Given the description of an element on the screen output the (x, y) to click on. 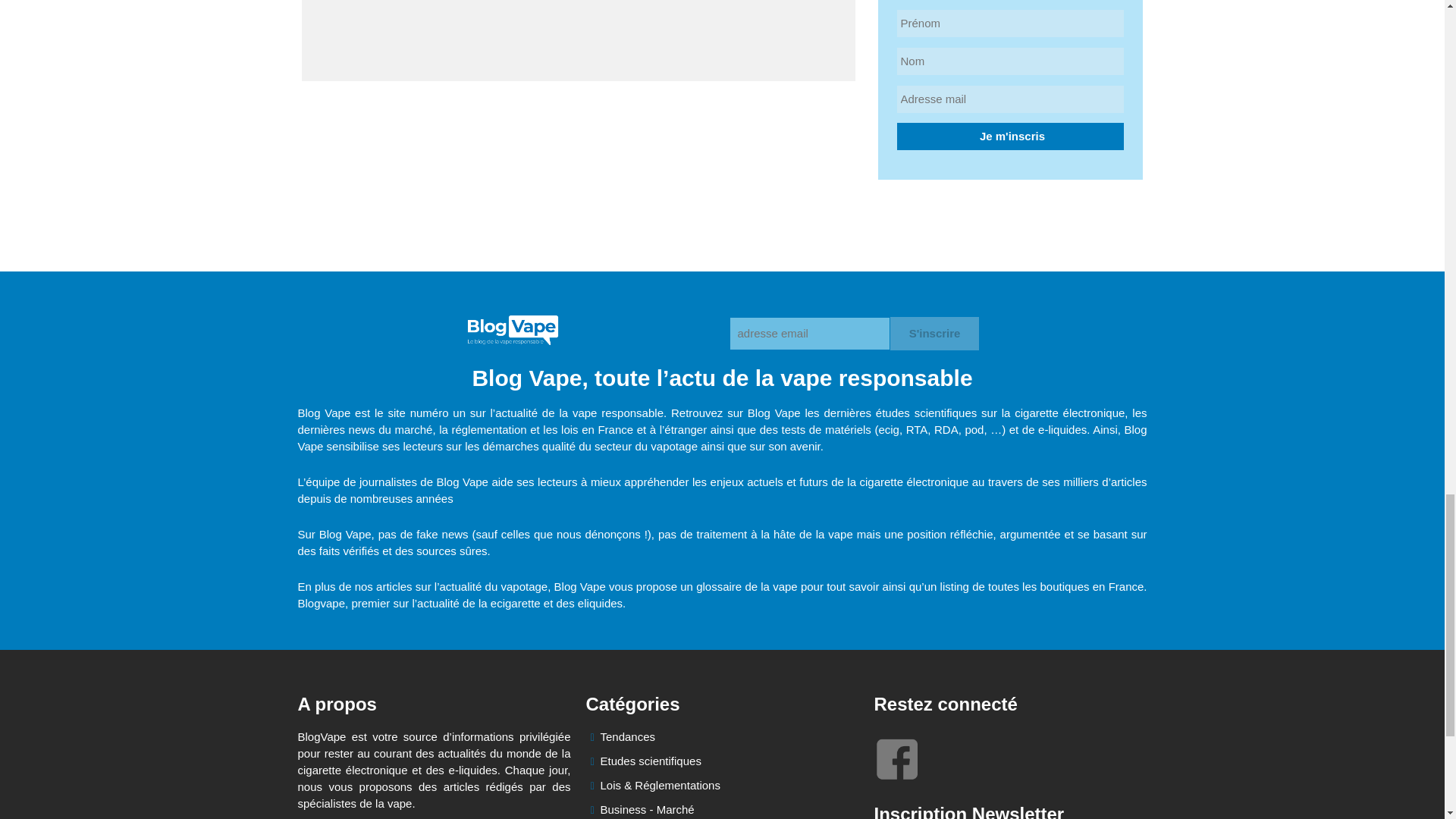
Je m'inscris (1010, 135)
Formulaire de commentaire (578, 40)
S'inscrire (934, 333)
